Given the description of an element on the screen output the (x, y) to click on. 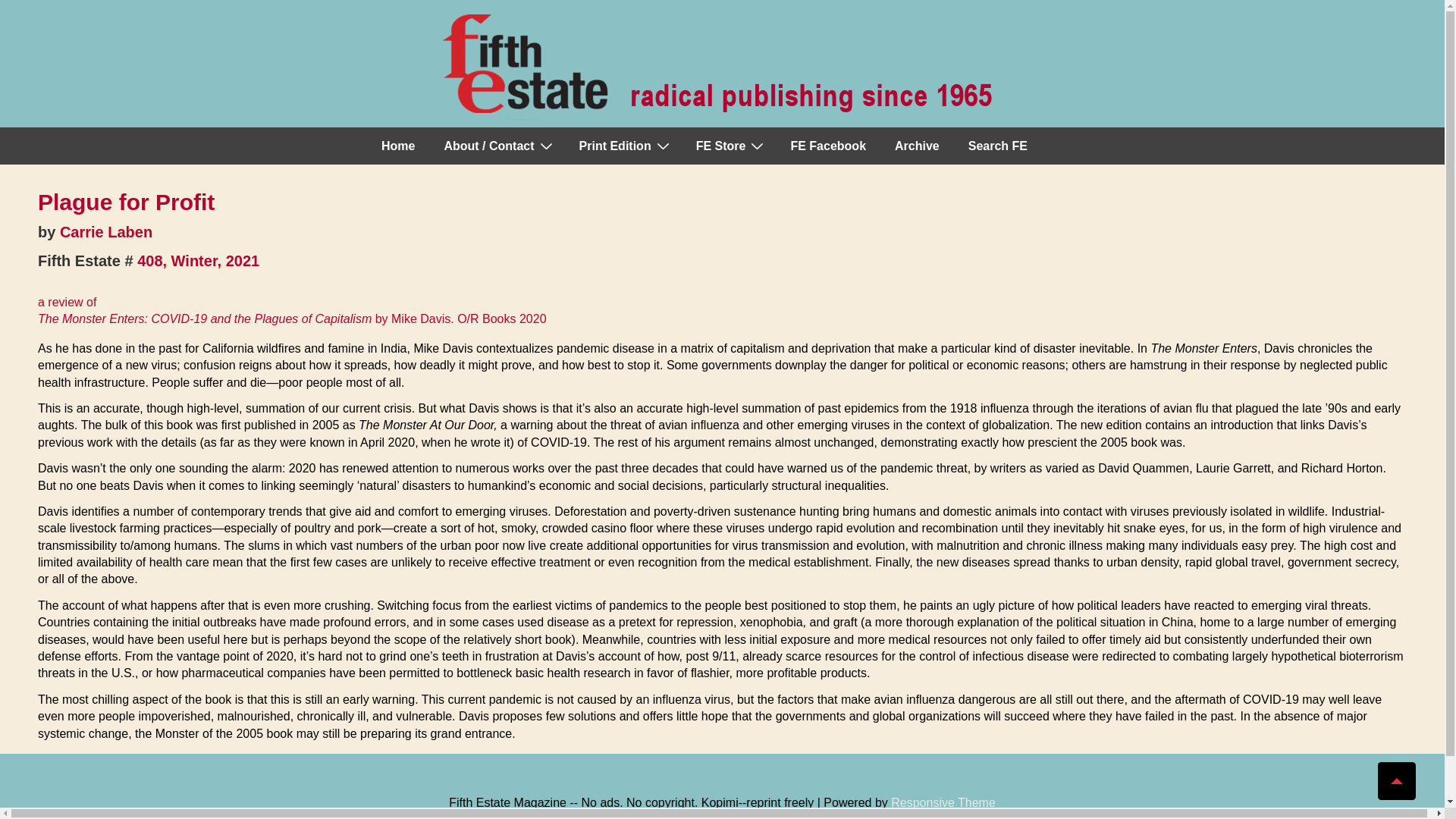
Search FE (998, 145)
Archive (916, 145)
Carrie Laben (105, 231)
Print Edition (623, 145)
Recordings (729, 145)
Scroll to Top (1396, 781)
Responsive Theme (943, 802)
FE Store (729, 145)
Home (398, 145)
FE Facebook (827, 145)
Top (1396, 781)
408, Winter, 2021 (197, 260)
